Given the description of an element on the screen output the (x, y) to click on. 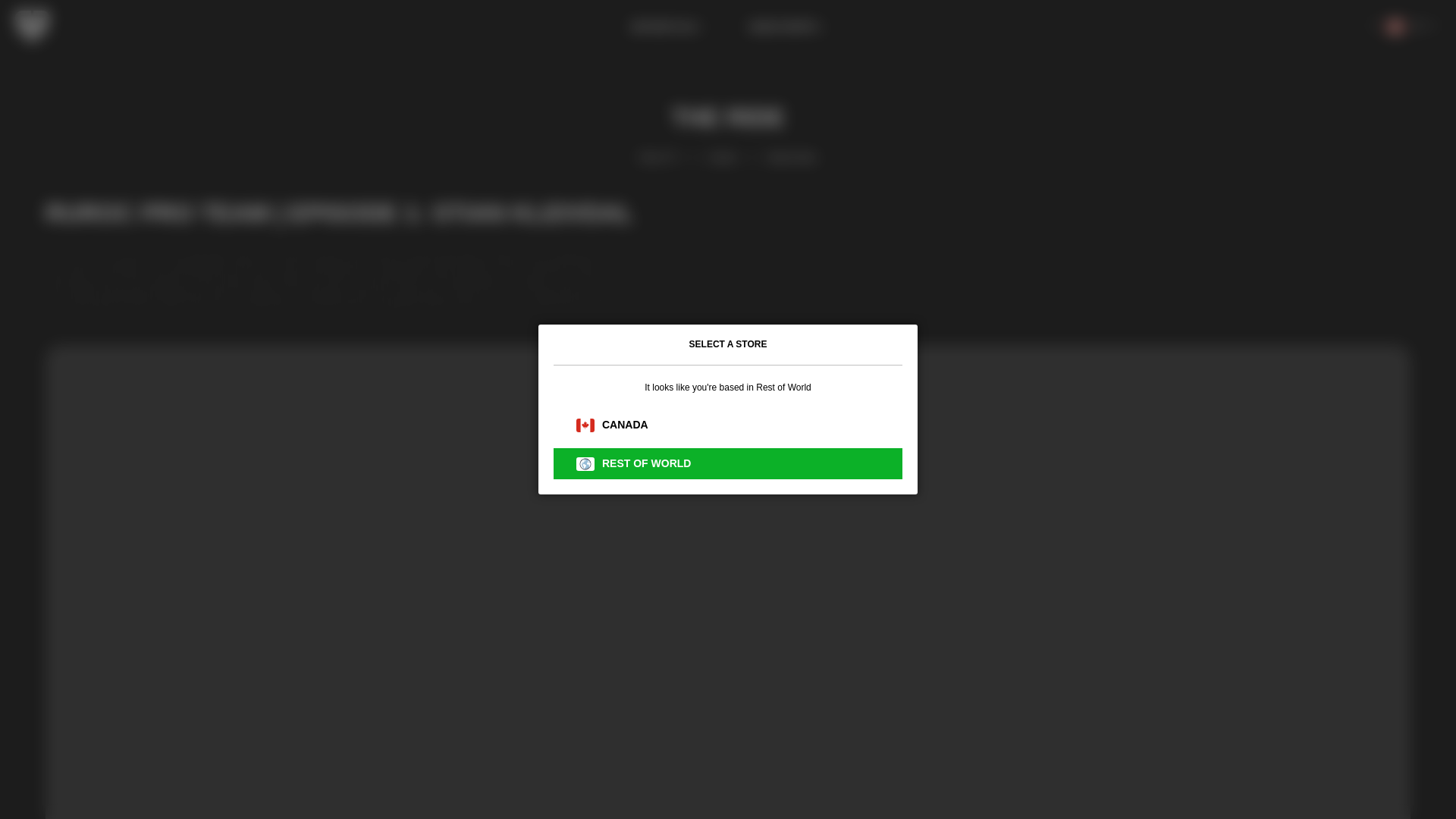
SNOW SPORTS (786, 27)
MOTORCYCLE (667, 27)
